Given the description of an element on the screen output the (x, y) to click on. 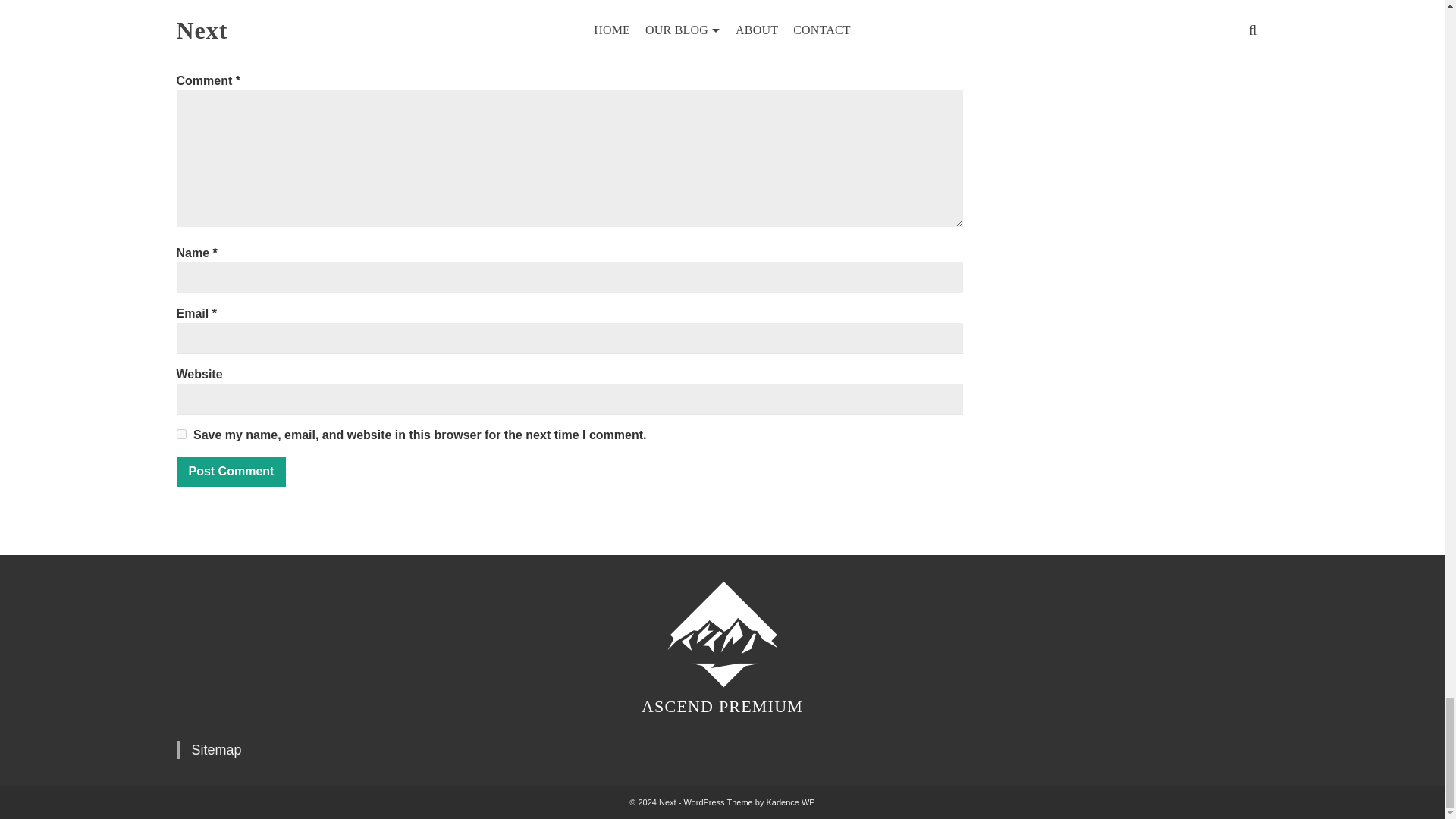
yes (181, 433)
Post Comment (230, 471)
